Given the description of an element on the screen output the (x, y) to click on. 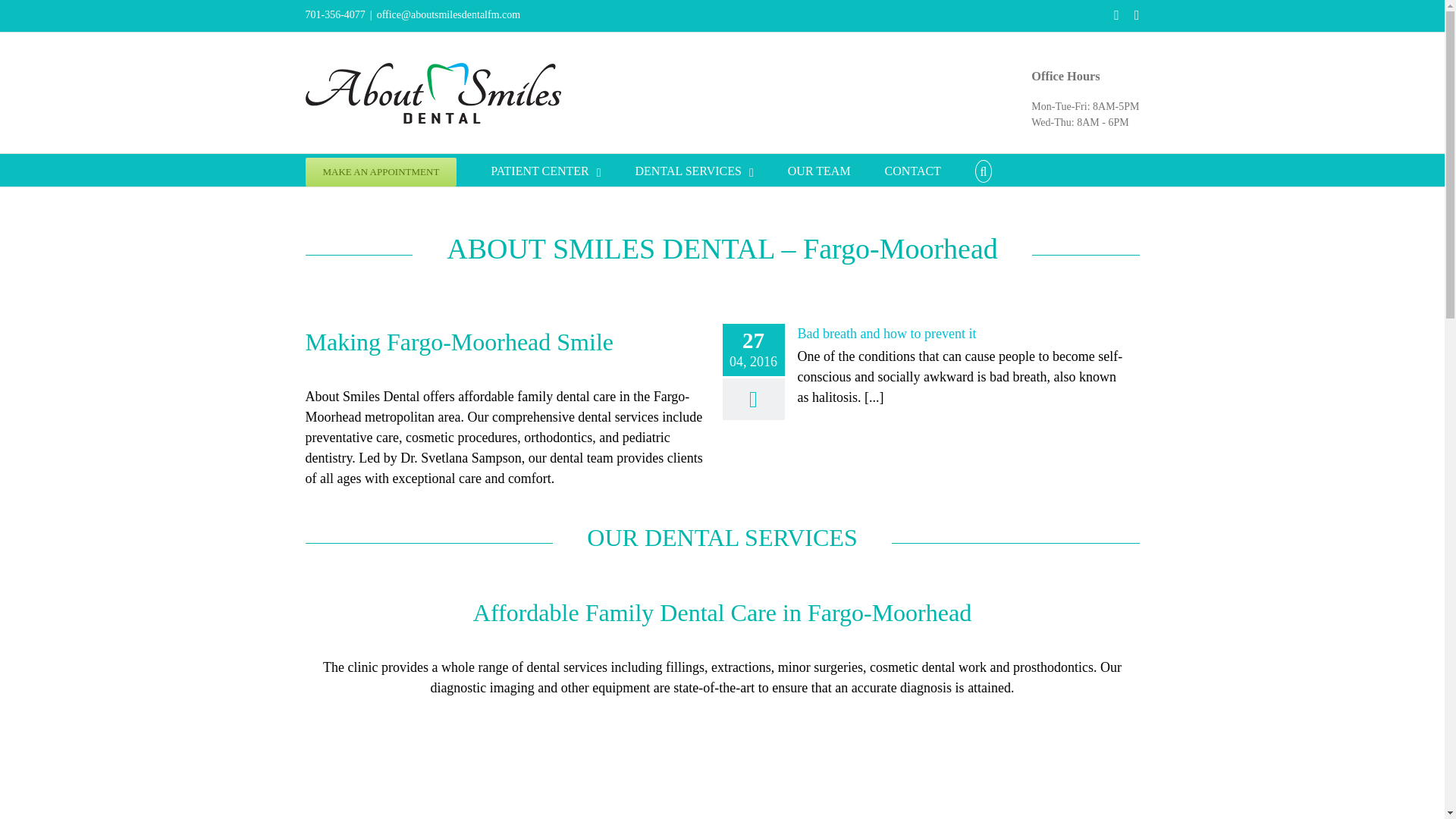
MAKE AN APPOINTMENT (380, 169)
DENTAL SERVICES (694, 169)
CONTACT (912, 169)
Bad breath and how to prevent it (886, 333)
OUR TEAM (818, 169)
PATIENT CENTER (544, 169)
